Given the description of an element on the screen output the (x, y) to click on. 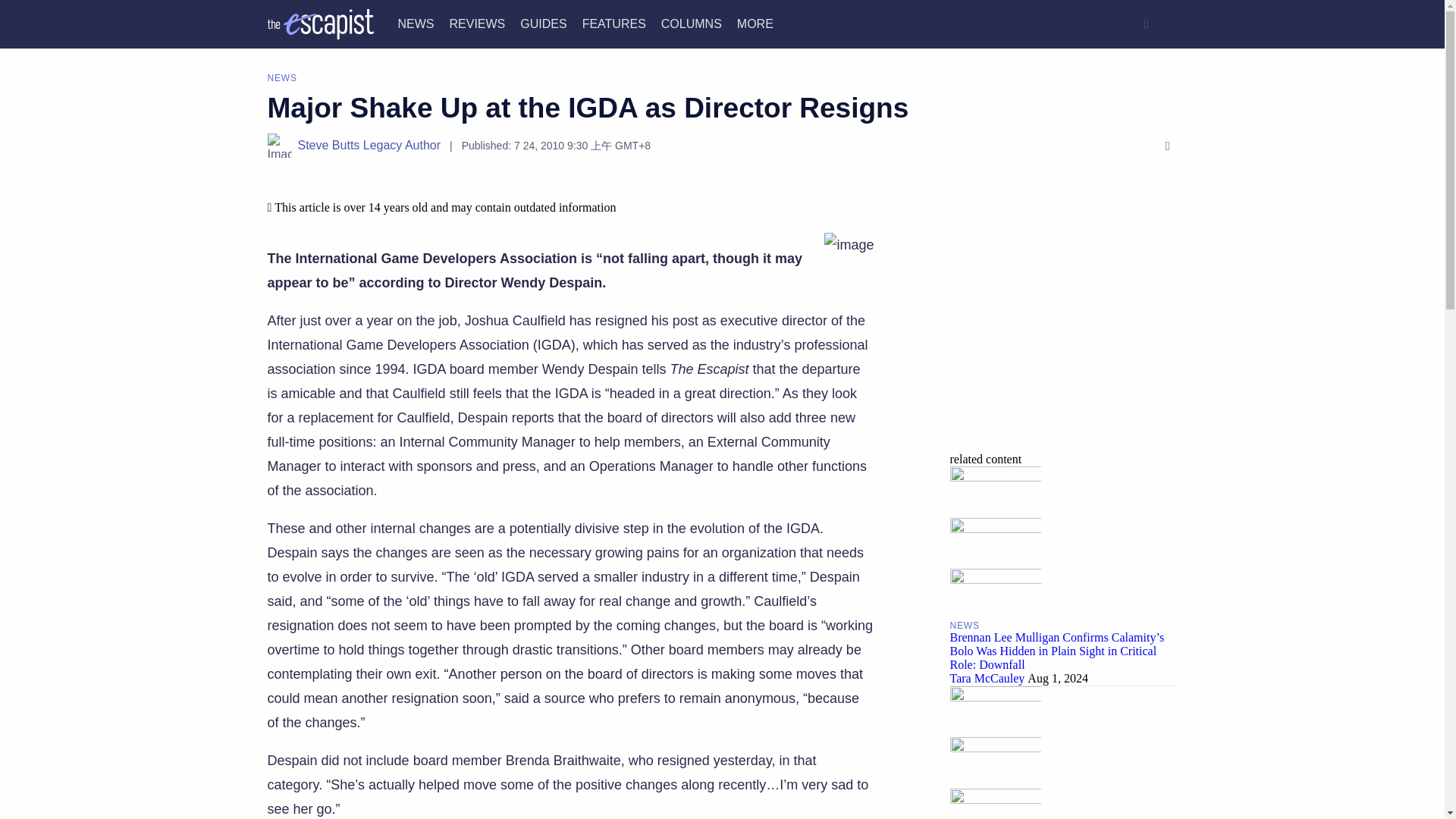
NEWS (415, 23)
COLUMNS (691, 23)
FEATURES (614, 23)
GUIDES (542, 23)
REVIEWS (476, 23)
